Given the description of an element on the screen output the (x, y) to click on. 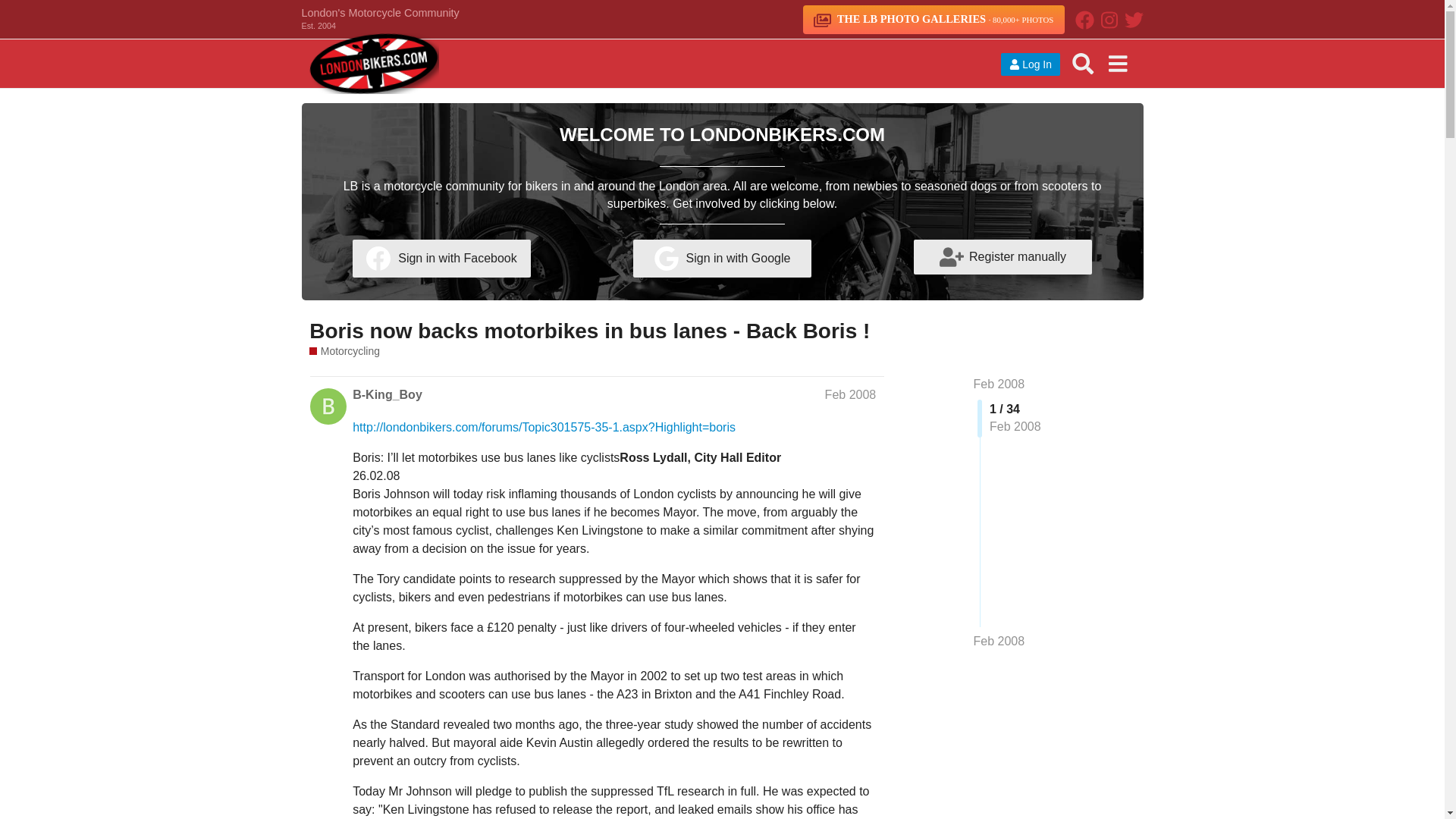
Jump to the first post (999, 383)
Sign in with Facebook (441, 258)
Register manually (1003, 256)
Sign in with Google (721, 258)
Feb 2008 (850, 394)
Log In (1030, 64)
Log in using your Facebook account (441, 258)
All things motorcycles and motorcycling. The main meet. (344, 350)
Feb 2008 (999, 383)
Feb 2008 (999, 641)
menu (1117, 62)
Post date (850, 394)
Log in using your Google account (721, 258)
Search (1082, 62)
Jump to the last post (999, 640)
